Given the description of an element on the screen output the (x, y) to click on. 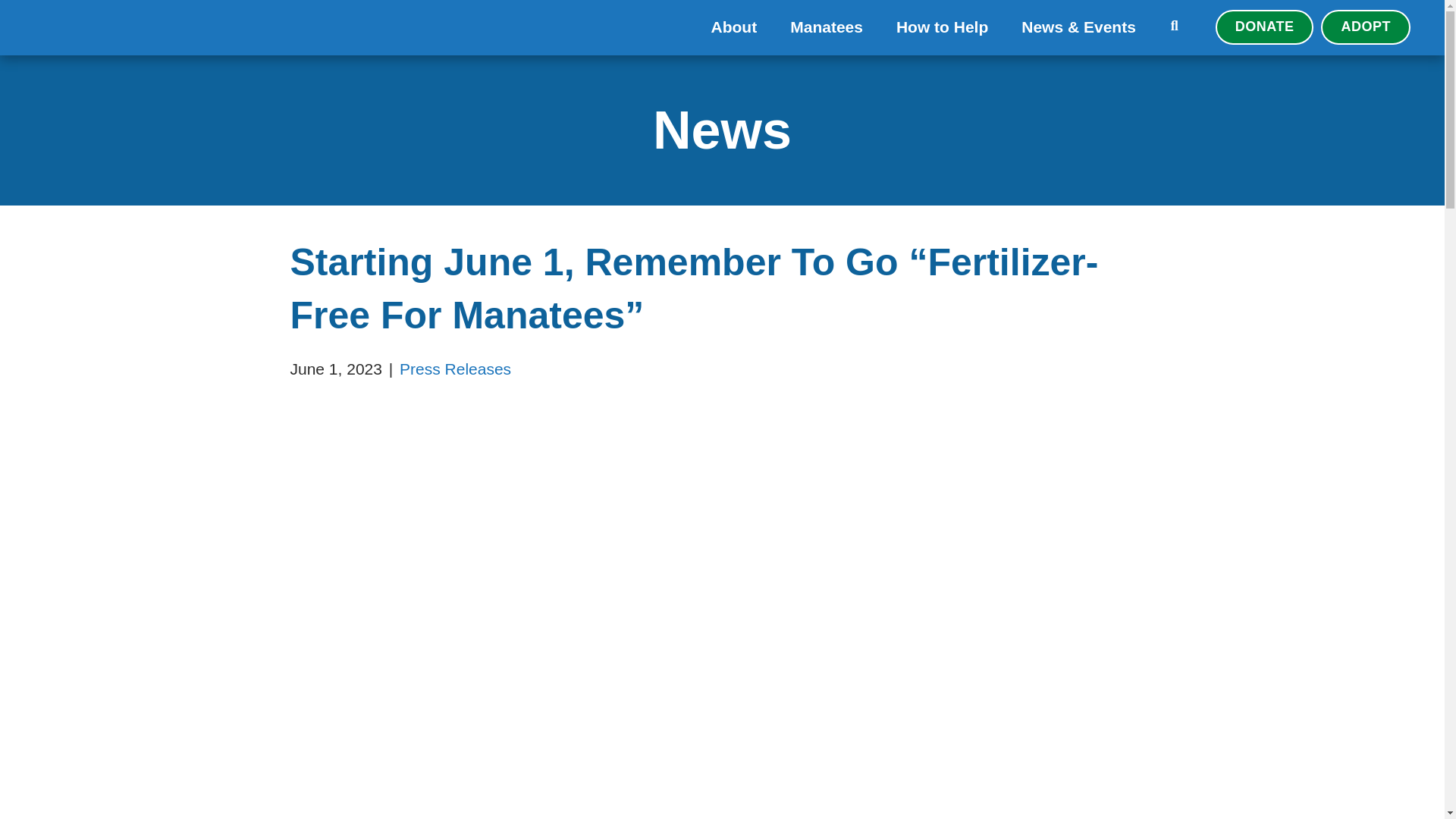
Manatees (826, 27)
DONATE (1264, 27)
ADOPT (1365, 27)
How to Help (941, 27)
About (734, 27)
